Given the description of an element on the screen output the (x, y) to click on. 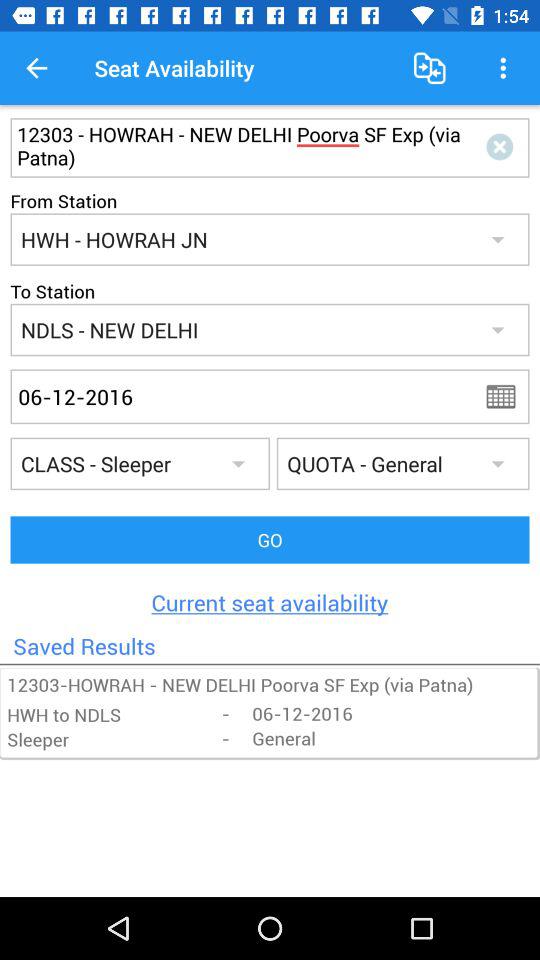
go to close (503, 147)
